Given the description of an element on the screen output the (x, y) to click on. 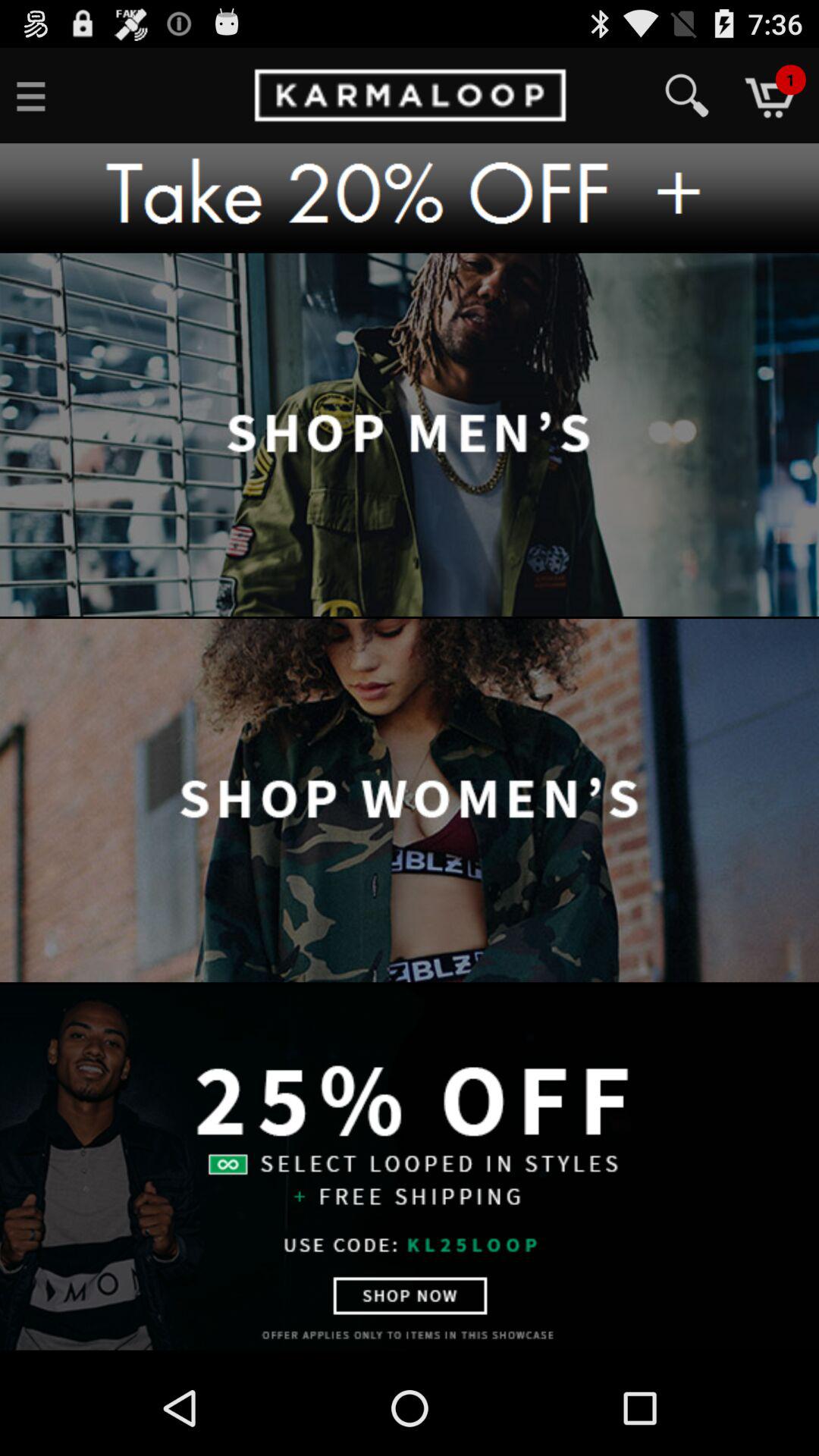
open sale website (409, 1167)
